Given the description of an element on the screen output the (x, y) to click on. 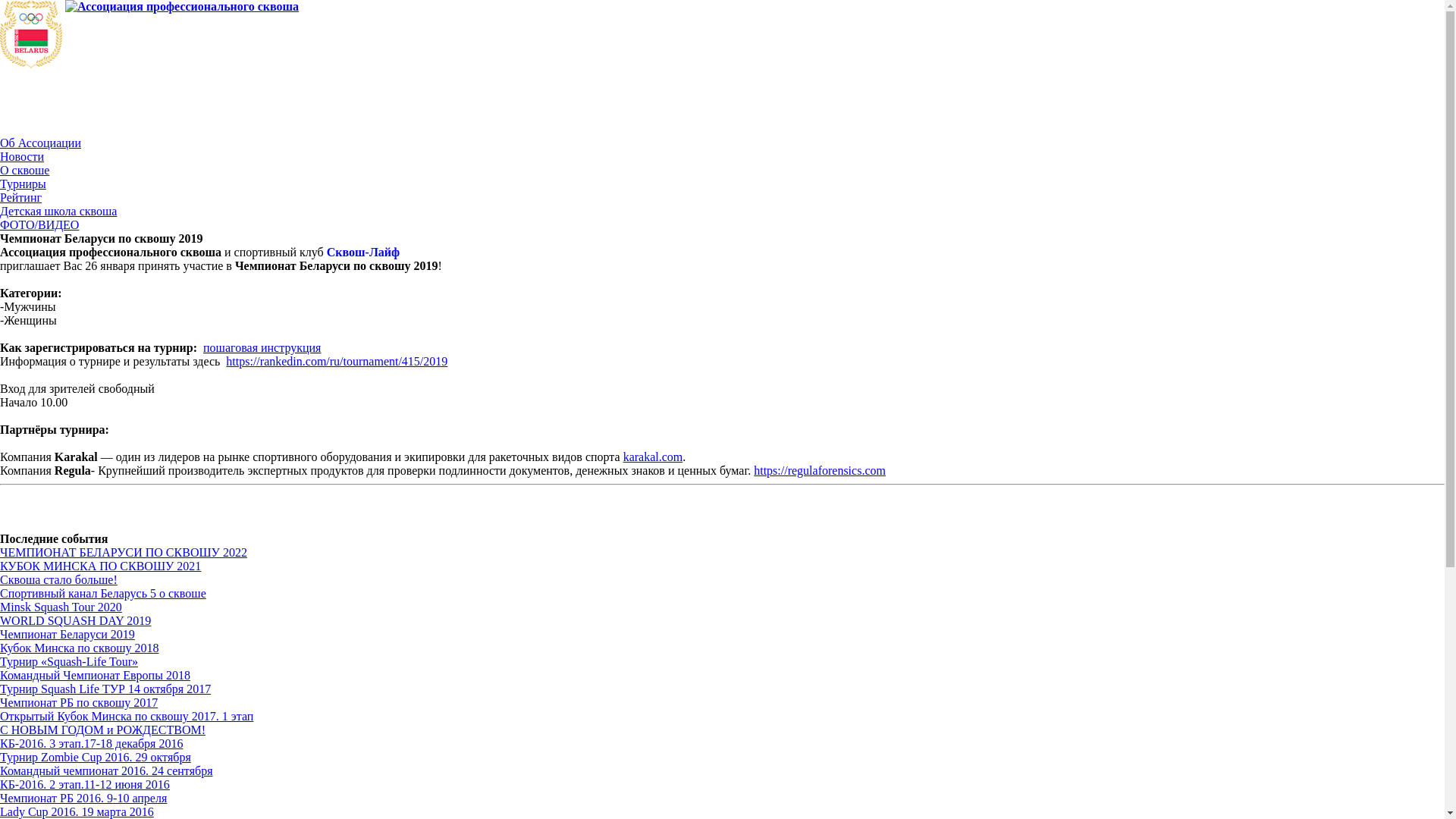
https://regulaforensics.com Element type: text (819, 470)
karakal.com Element type: text (653, 456)
WORLD SQUASH DAY 2019 Element type: text (75, 620)
https://rankedin.com/ru/tournament/415/2019 Element type: text (336, 360)
Minsk Squash Tour 2020 Element type: text (61, 606)
